Given the description of an element on the screen output the (x, y) to click on. 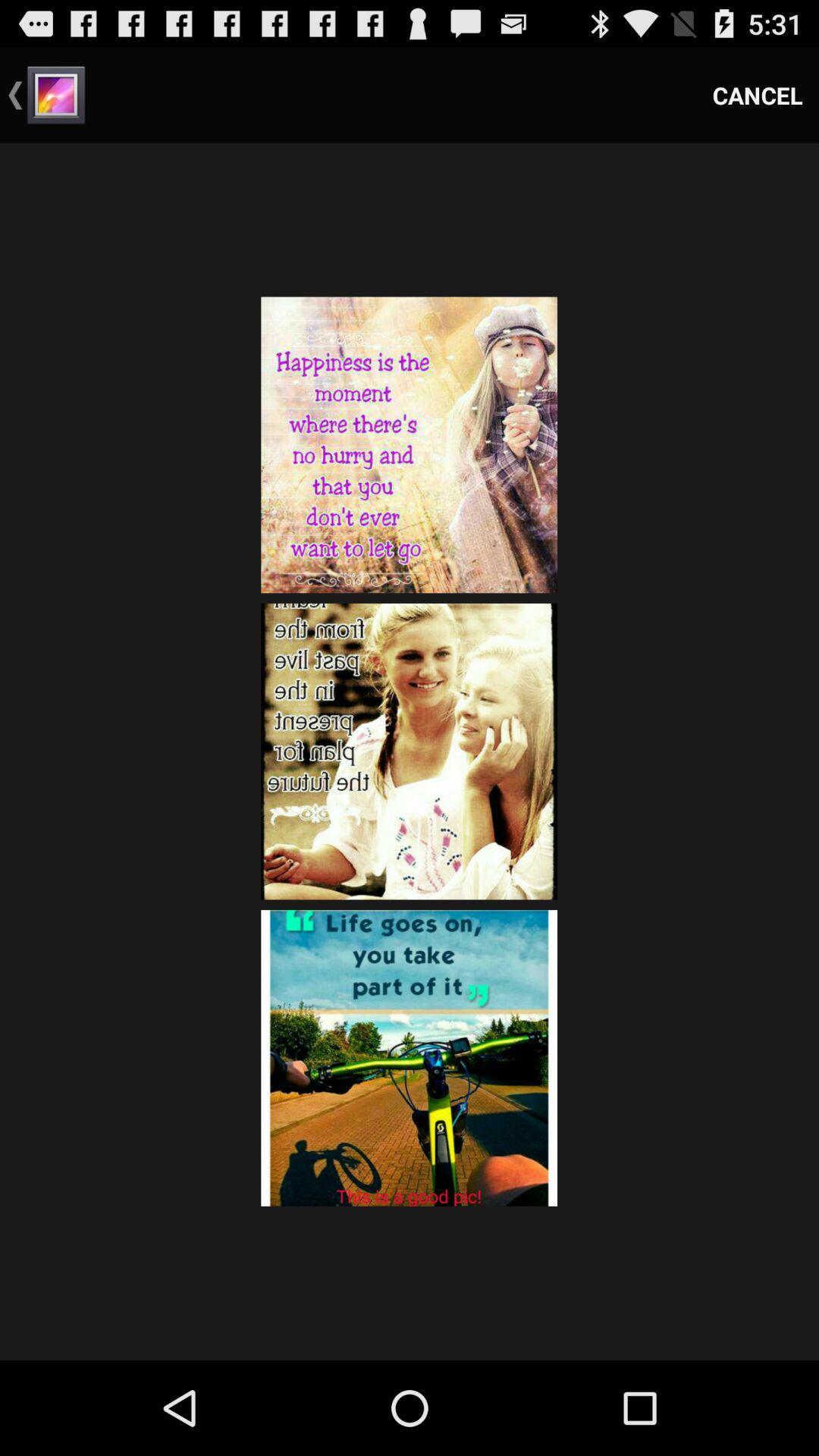
choose the cancel icon (757, 95)
